Given the description of an element on the screen output the (x, y) to click on. 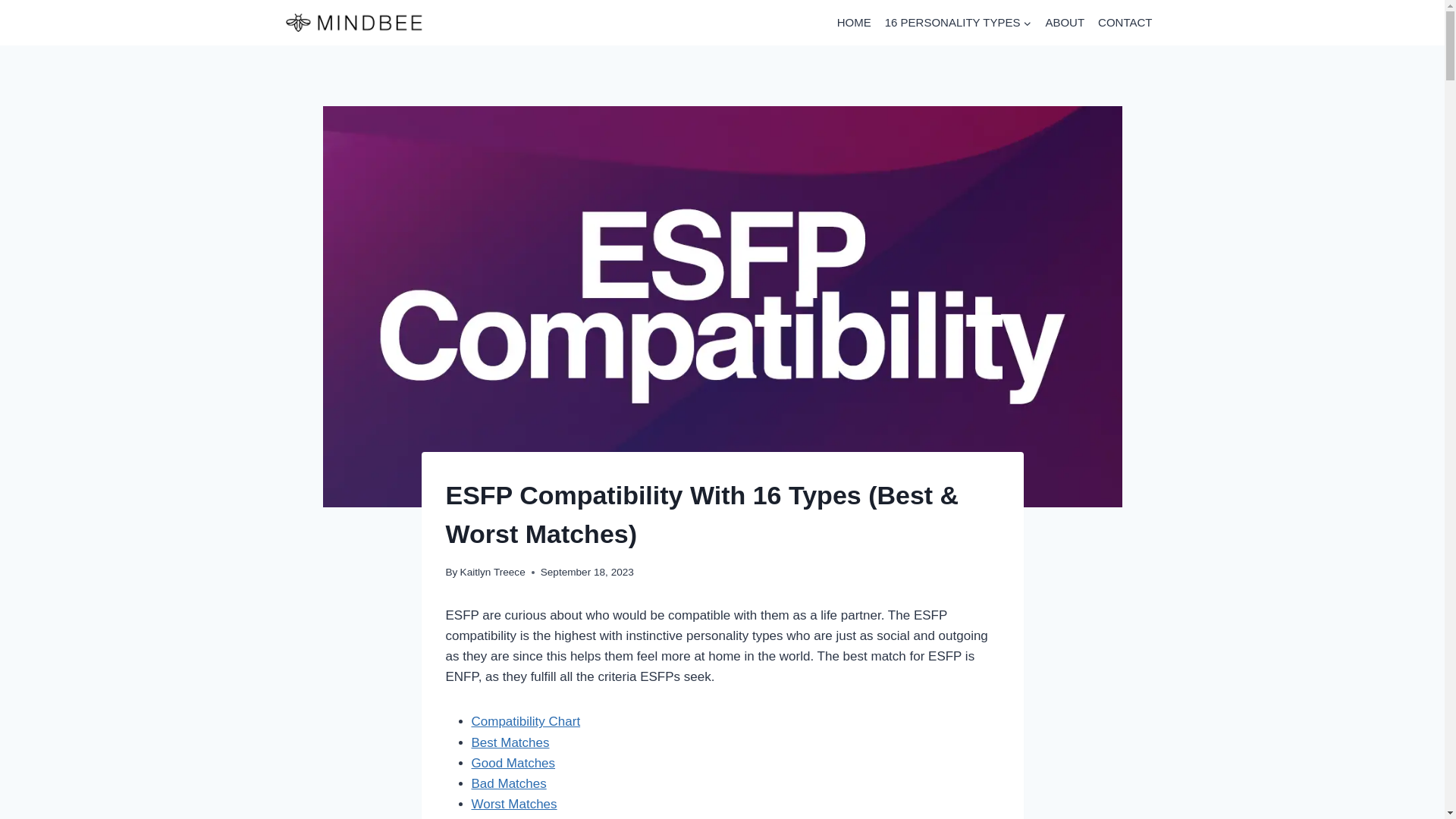
HOME (853, 22)
Good Matches (513, 762)
Bad Matches (509, 783)
CONTACT (1124, 22)
Compatibility Chart (525, 721)
ABOUT (1064, 22)
Best Matches (510, 742)
Kaitlyn Treece (492, 572)
Worst Matches (514, 803)
16 PERSONALITY TYPES (958, 22)
